Given the description of an element on the screen output the (x, y) to click on. 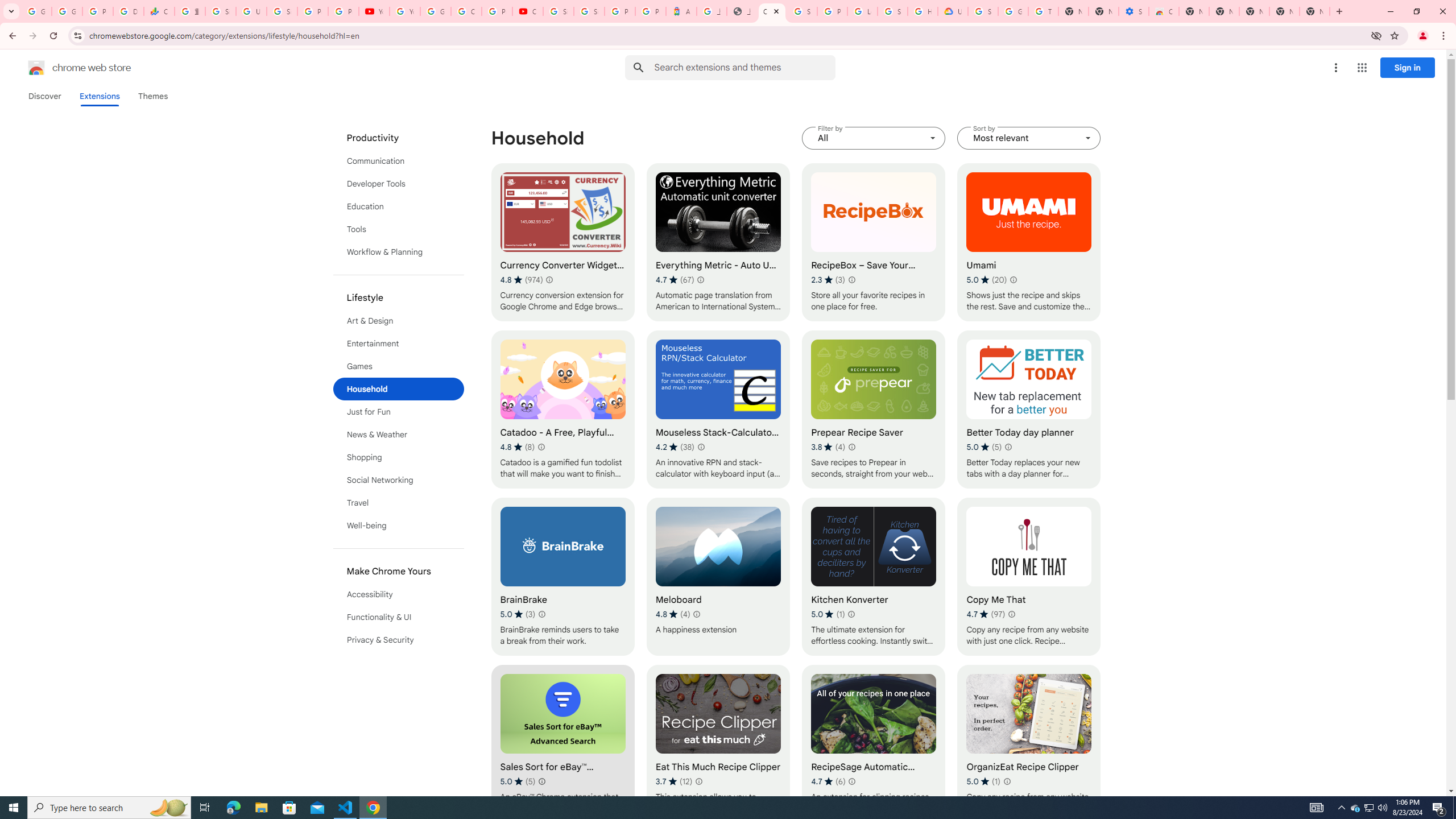
New Tab (1314, 11)
Currency Converter Widget - Exchange Rates (562, 241)
Average rating 4.7 out of 5 stars. 6 ratings. (827, 781)
Catadoo - A Free, Playful and Fun Todolist! (562, 409)
Sign in - Google Accounts (892, 11)
Sign in - Google Accounts (220, 11)
Turn cookies on or off - Computer - Google Account Help (1042, 11)
Content Creator Programs & Opportunities - YouTube Creators (527, 11)
Average rating 5 out of 5 stars. 20 ratings. (986, 279)
